Given the description of an element on the screen output the (x, y) to click on. 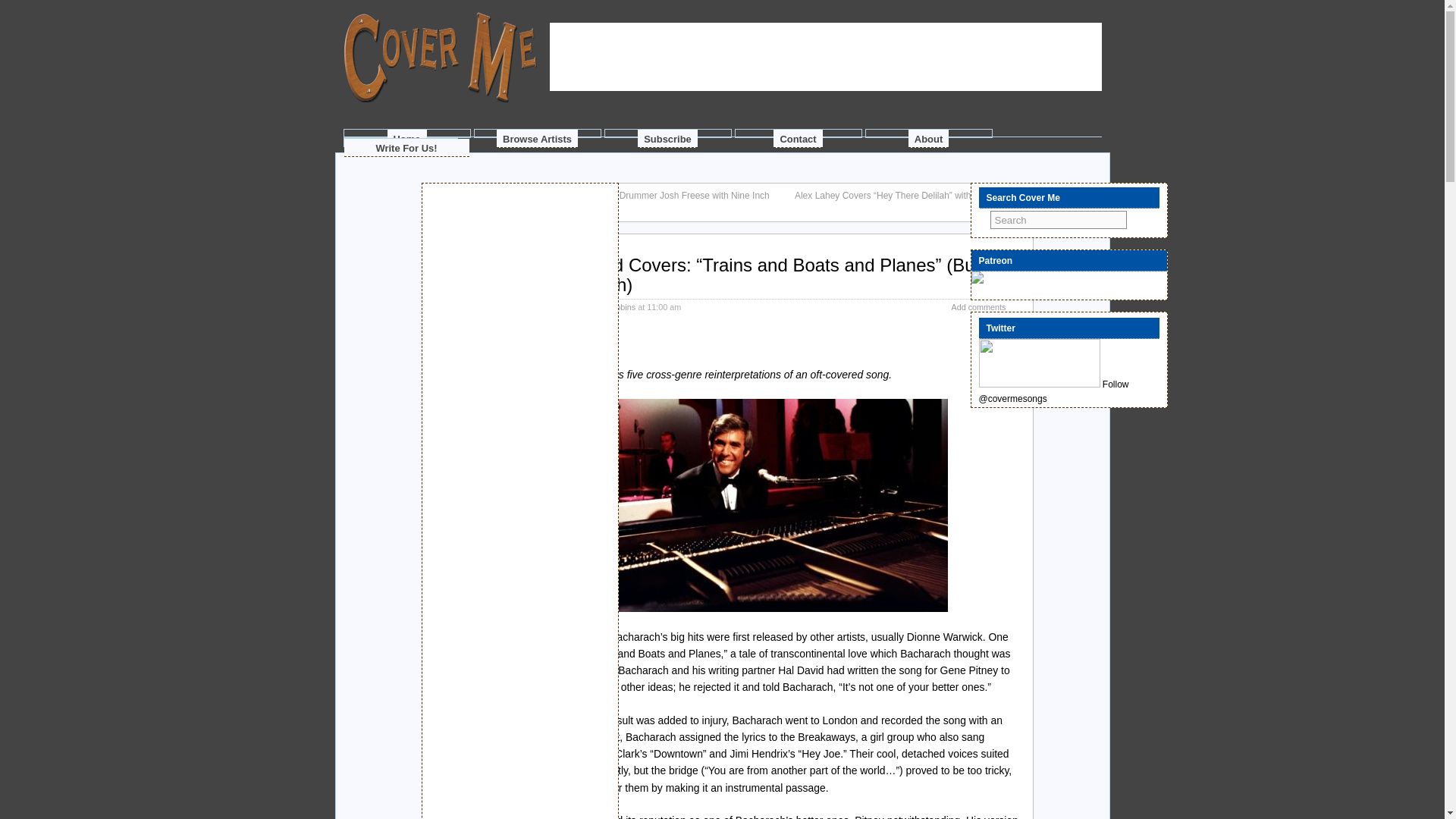
Search (1058, 219)
Subscribe (667, 138)
Write For Us! (405, 147)
Five Good Covers (538, 374)
Home (406, 138)
About (928, 138)
Patrick Robbins (607, 307)
Search (1058, 219)
Browse Artists (537, 138)
